Given the description of an element on the screen output the (x, y) to click on. 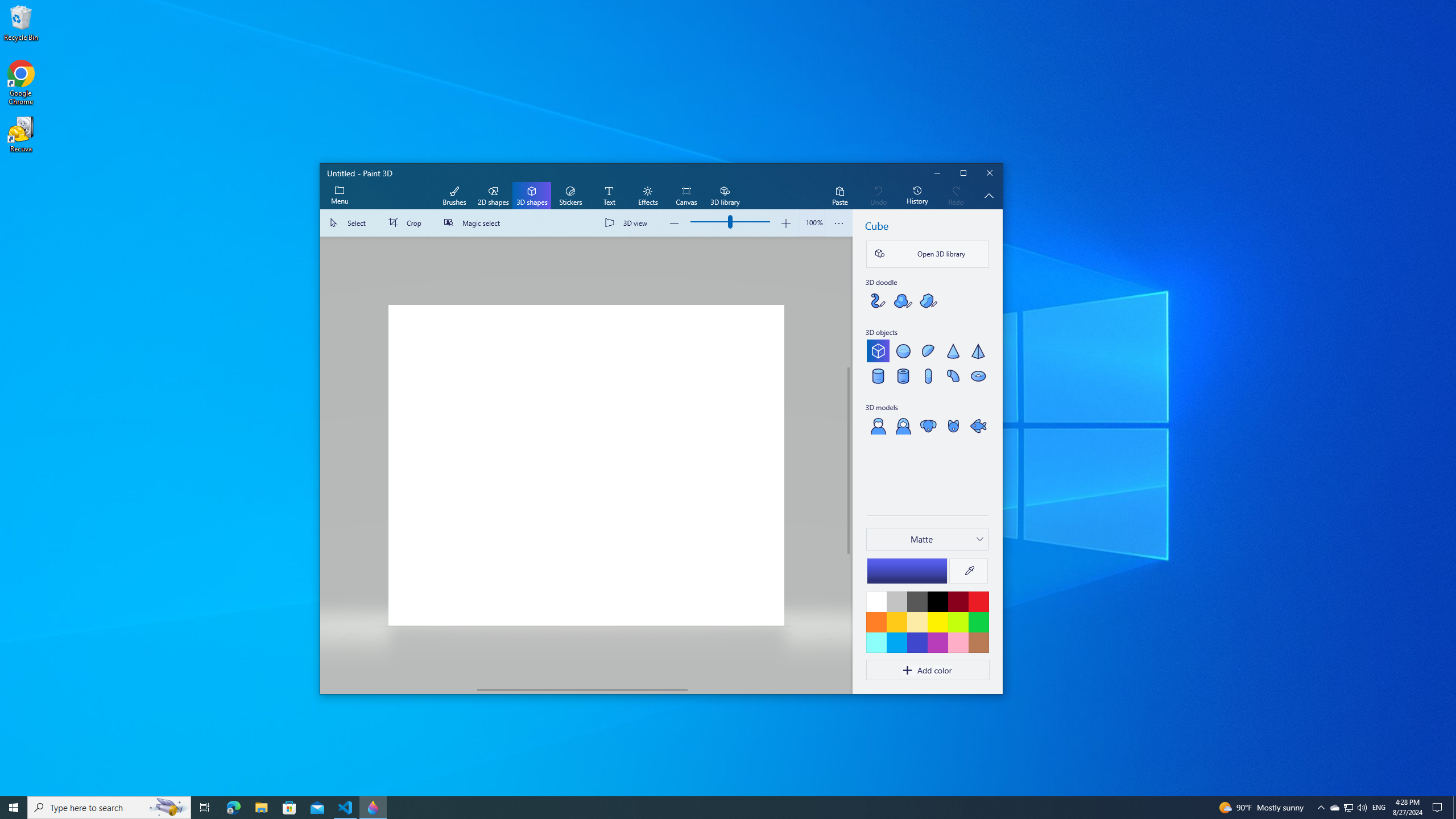
Dark red (957, 601)
Turquoise (896, 642)
Dark grey (917, 601)
Orange (876, 621)
Open 3D library (927, 253)
Indigo (917, 642)
View more options (839, 222)
Brushes (454, 195)
Hide description (989, 195)
Paint 3D - 1 running window (373, 807)
Doughnut (978, 375)
Curved cylinder (952, 375)
